Given the description of an element on the screen output the (x, y) to click on. 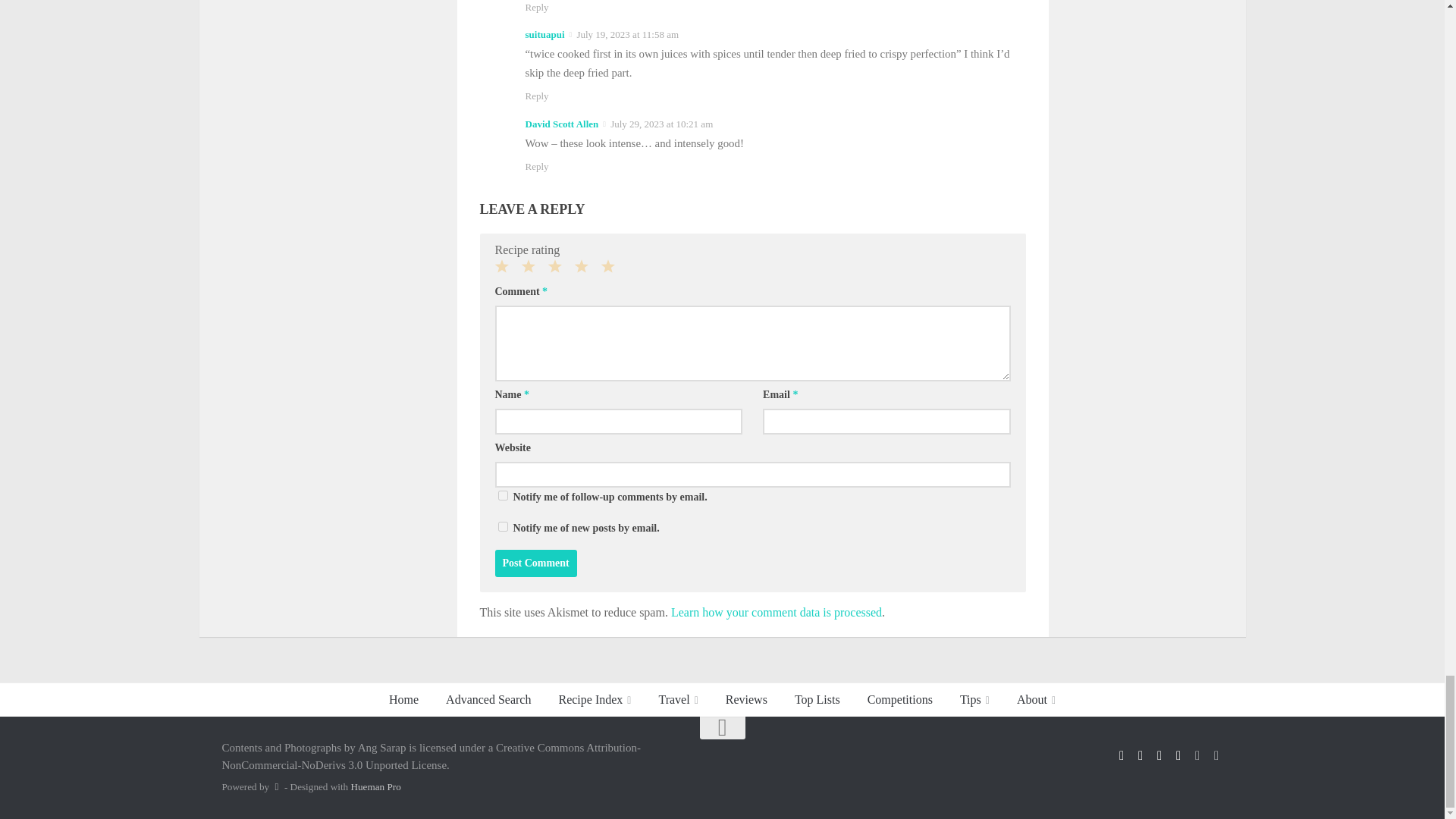
subscribe (501, 495)
subscribe (501, 526)
Post Comment (535, 563)
